Given the description of an element on the screen output the (x, y) to click on. 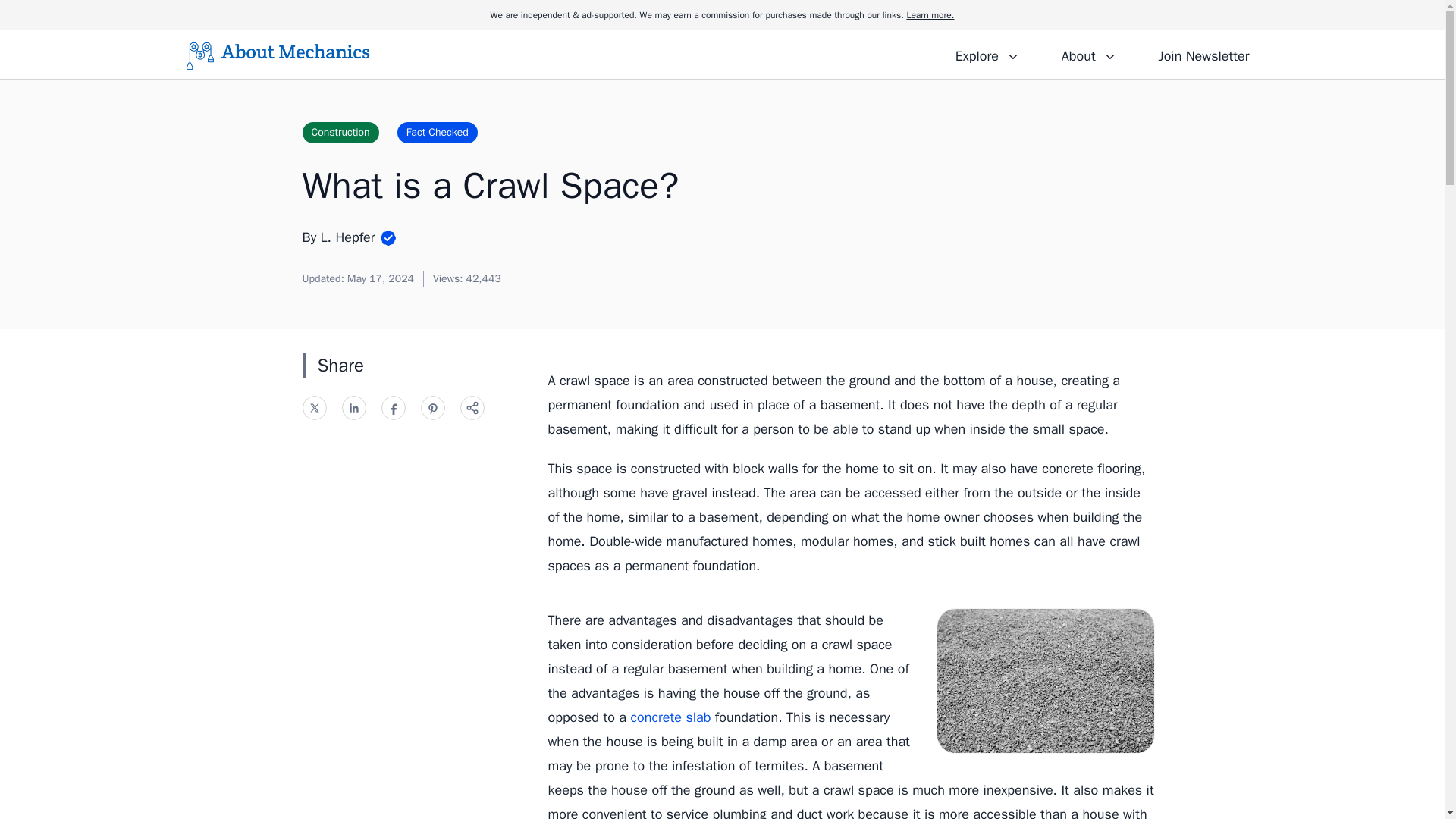
About (1088, 54)
Fact Checked (437, 132)
Learn more. (929, 15)
concrete slab (670, 717)
Join Newsletter (1202, 54)
Construction (339, 132)
Explore (986, 54)
